Given the description of an element on the screen output the (x, y) to click on. 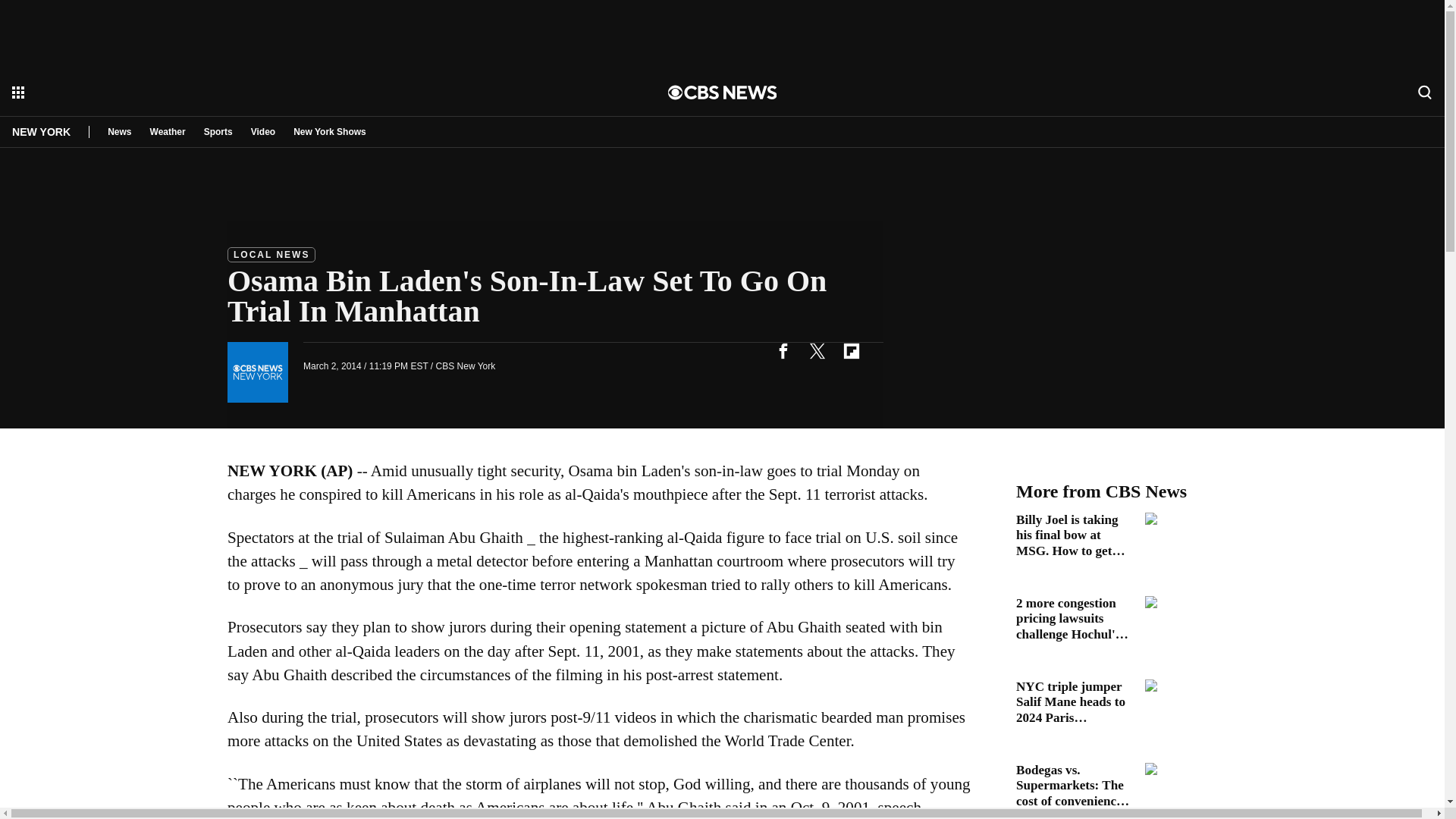
facebook (782, 350)
flipboard (850, 350)
twitter (816, 350)
